Given the description of an element on the screen output the (x, y) to click on. 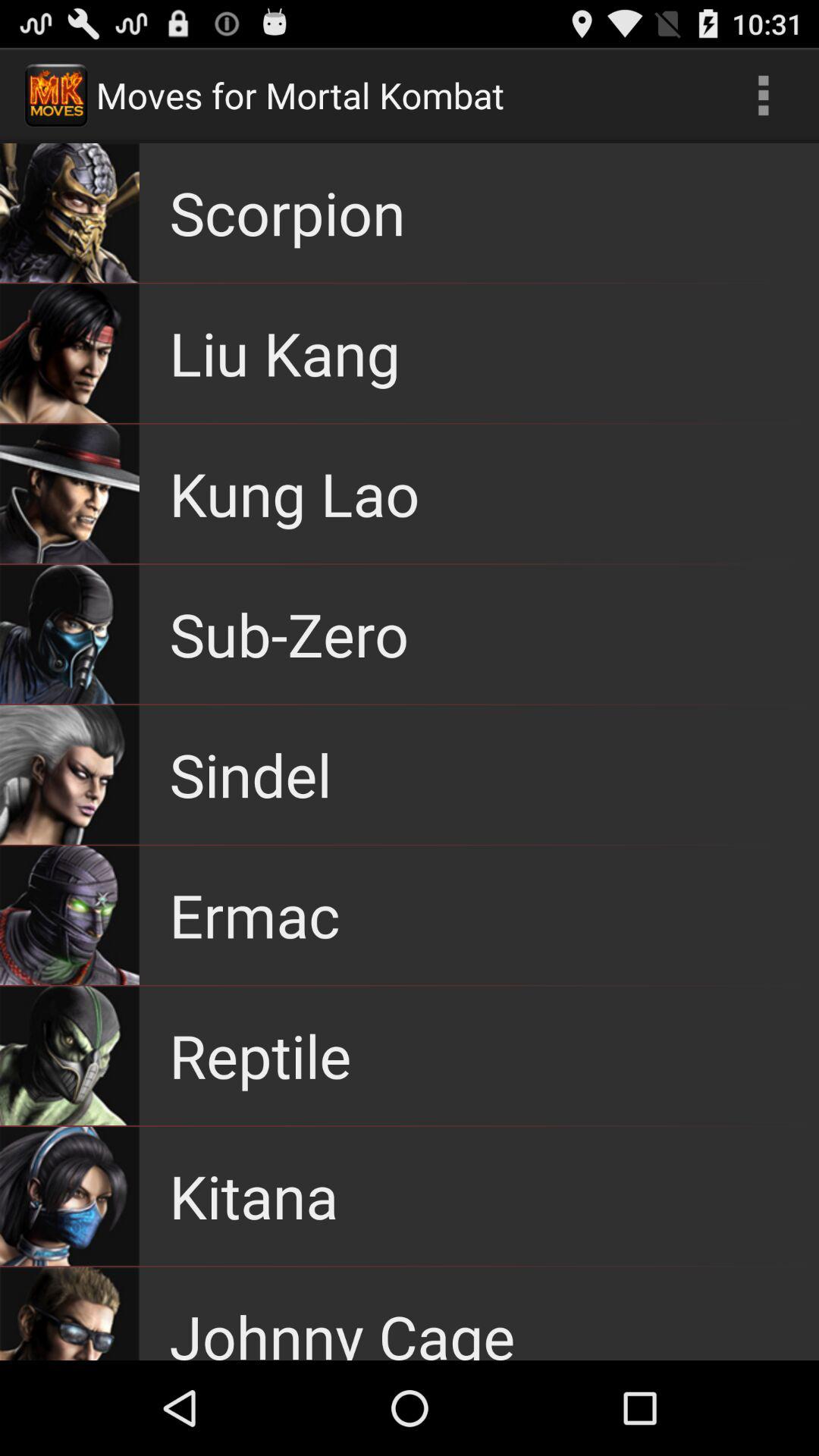
turn on the scorpion (287, 212)
